Given the description of an element on the screen output the (x, y) to click on. 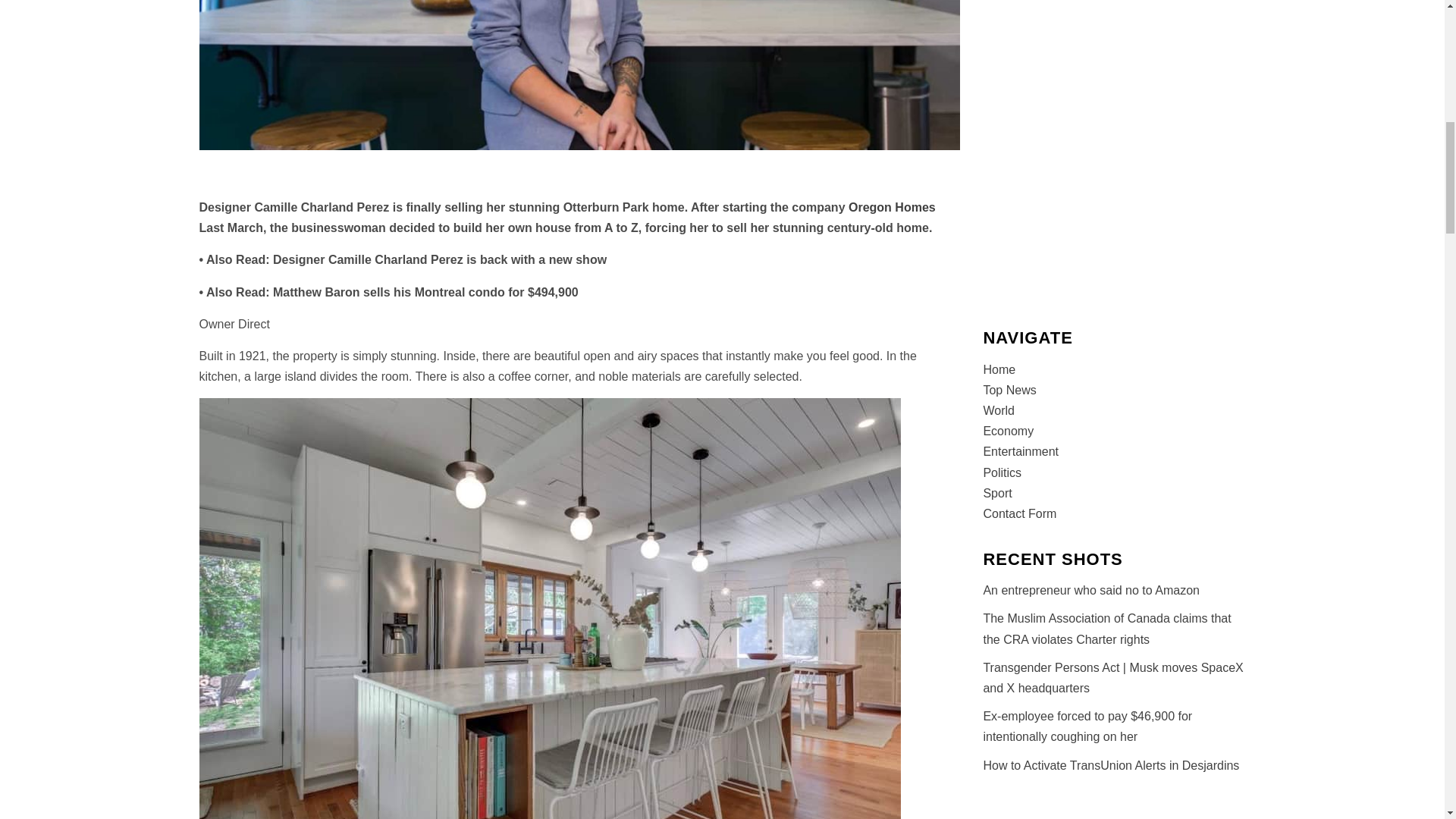
Oregon Homes (892, 206)
